Given the description of an element on the screen output the (x, y) to click on. 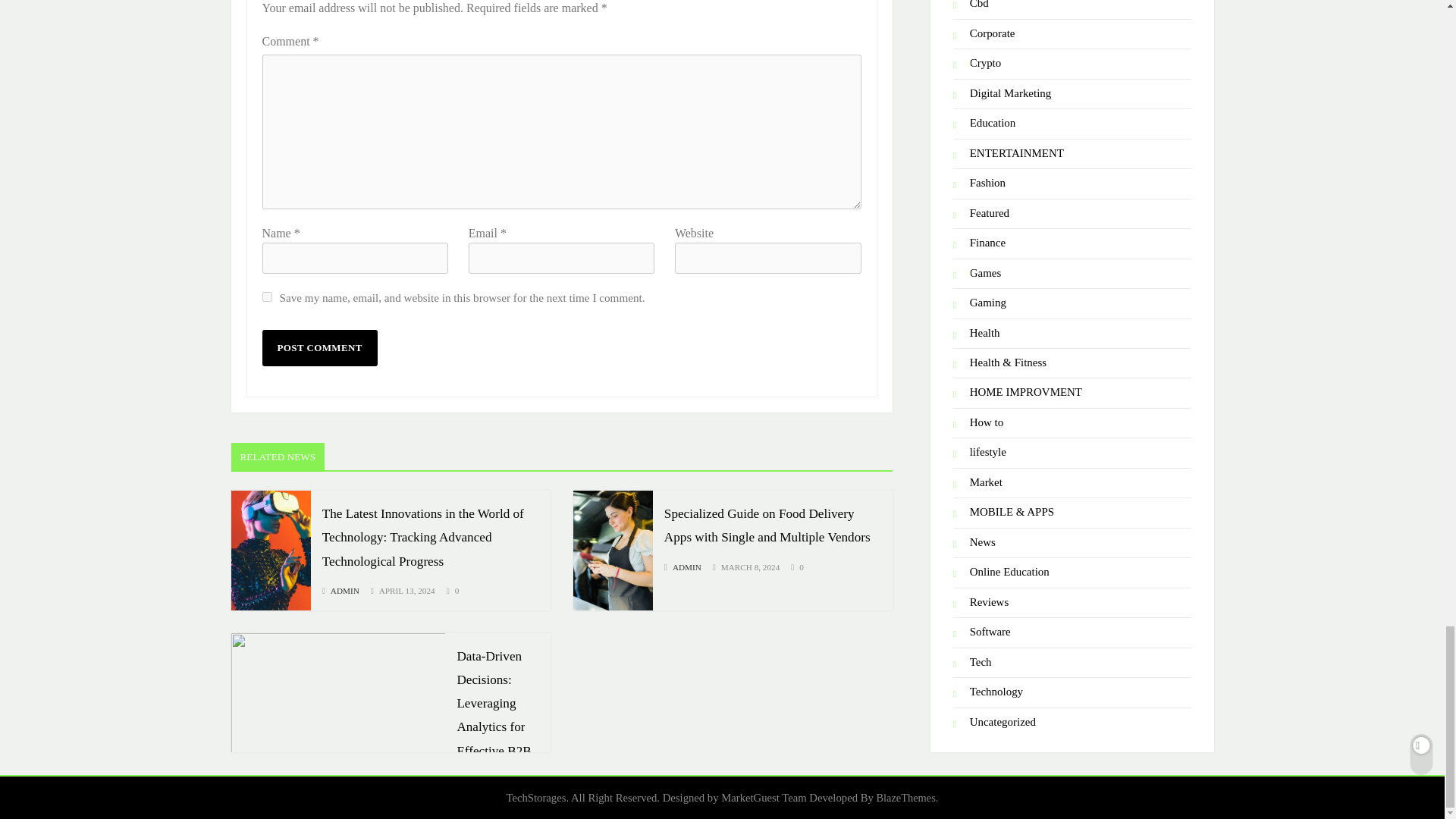
Post Comment (319, 348)
yes (267, 296)
